Given the description of an element on the screen output the (x, y) to click on. 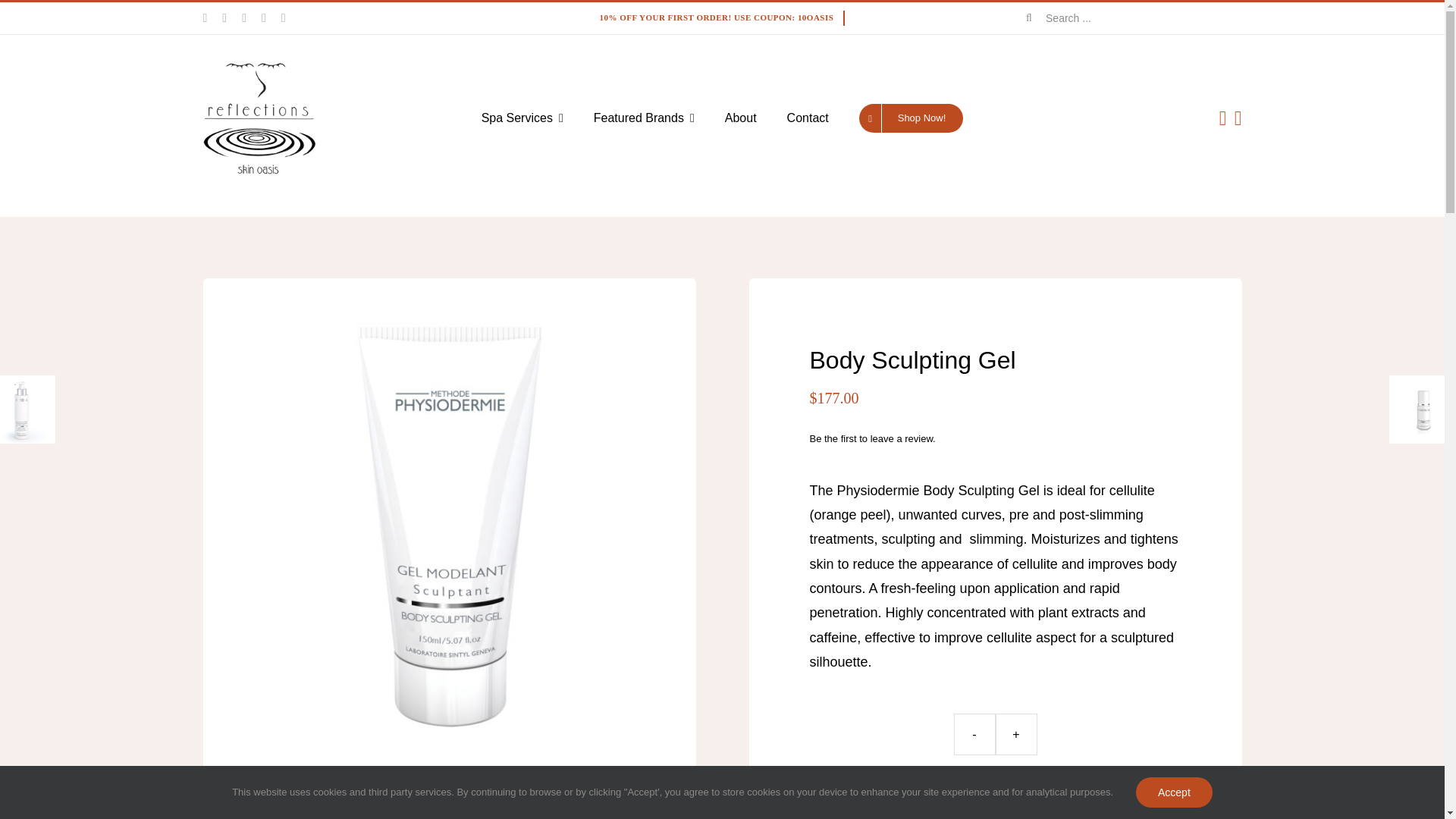
Spa Services (522, 118)
Shop Now! (911, 118)
Add to cart (994, 790)
Be the first to leave a review. (872, 438)
Log In (1160, 299)
- (974, 734)
Featured Brands (644, 118)
Contact (807, 118)
About (741, 118)
